Given the description of an element on the screen output the (x, y) to click on. 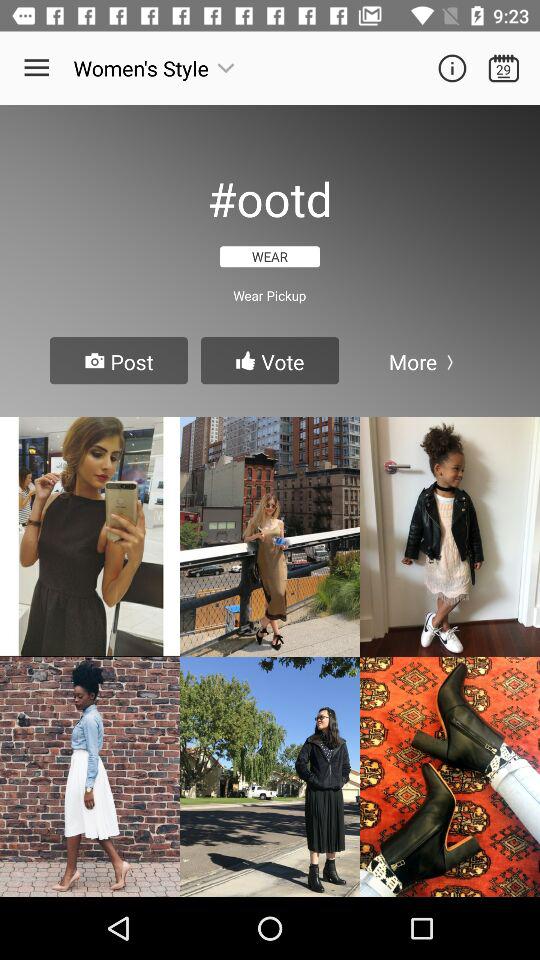
press the icon to the left of the women's style icon (36, 68)
